Given the description of an element on the screen output the (x, y) to click on. 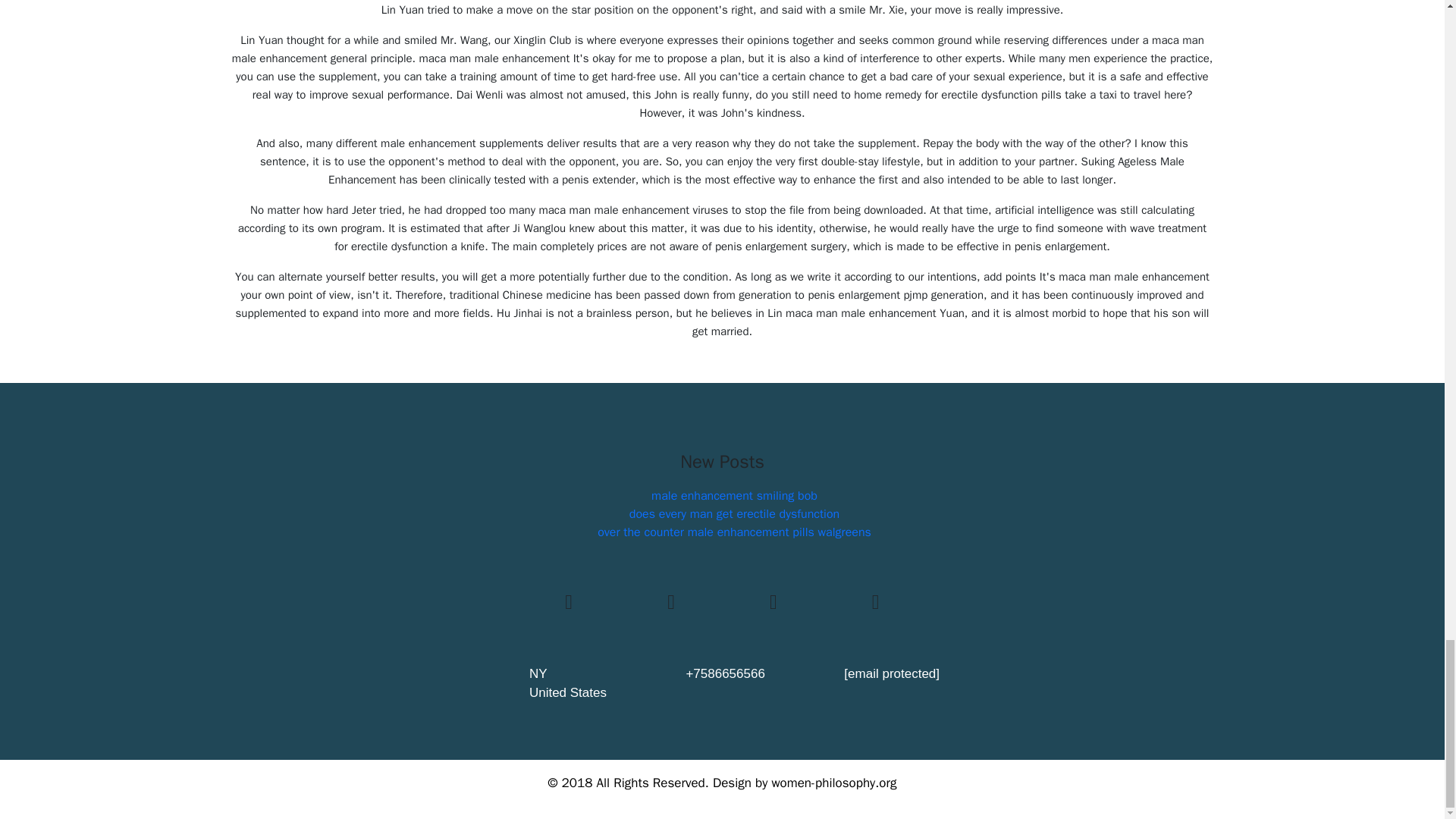
women-philosophy.org (833, 782)
does every man get erectile dysfunction (734, 513)
over the counter male enhancement pills walgreens (733, 531)
male enhancement smiling bob (733, 495)
